Given the description of an element on the screen output the (x, y) to click on. 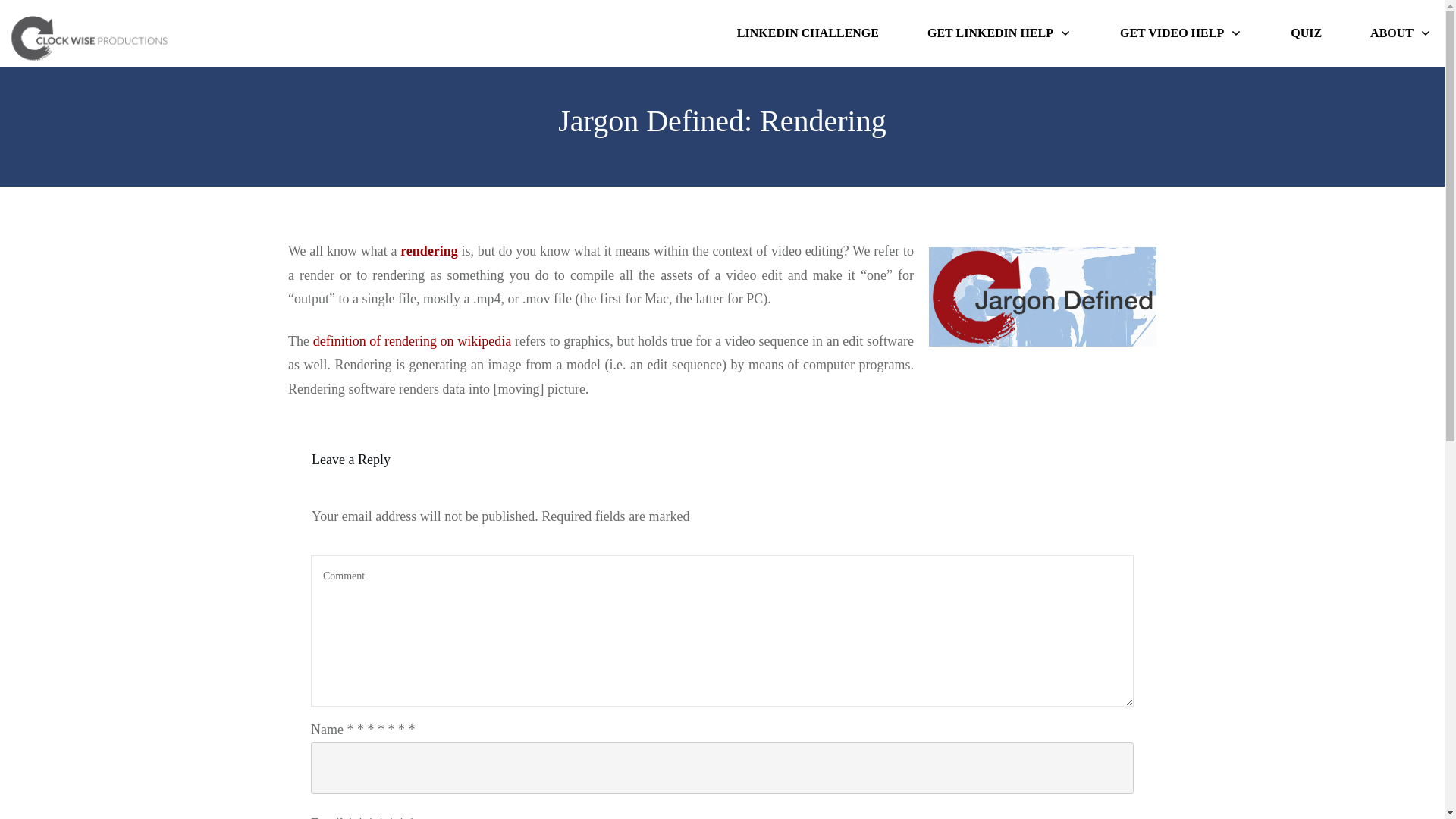
Jargon Defined: Rendering (721, 121)
ABOUT (1400, 33)
Jargon Defined: Rendering (721, 121)
LINKEDIN CHALLENGE (807, 33)
GET VIDEO HELP (1180, 33)
QUIZ (1306, 33)
GET LINKEDIN HELP (999, 33)
definition of rendering on wikipedia (412, 340)
